Given the description of an element on the screen output the (x, y) to click on. 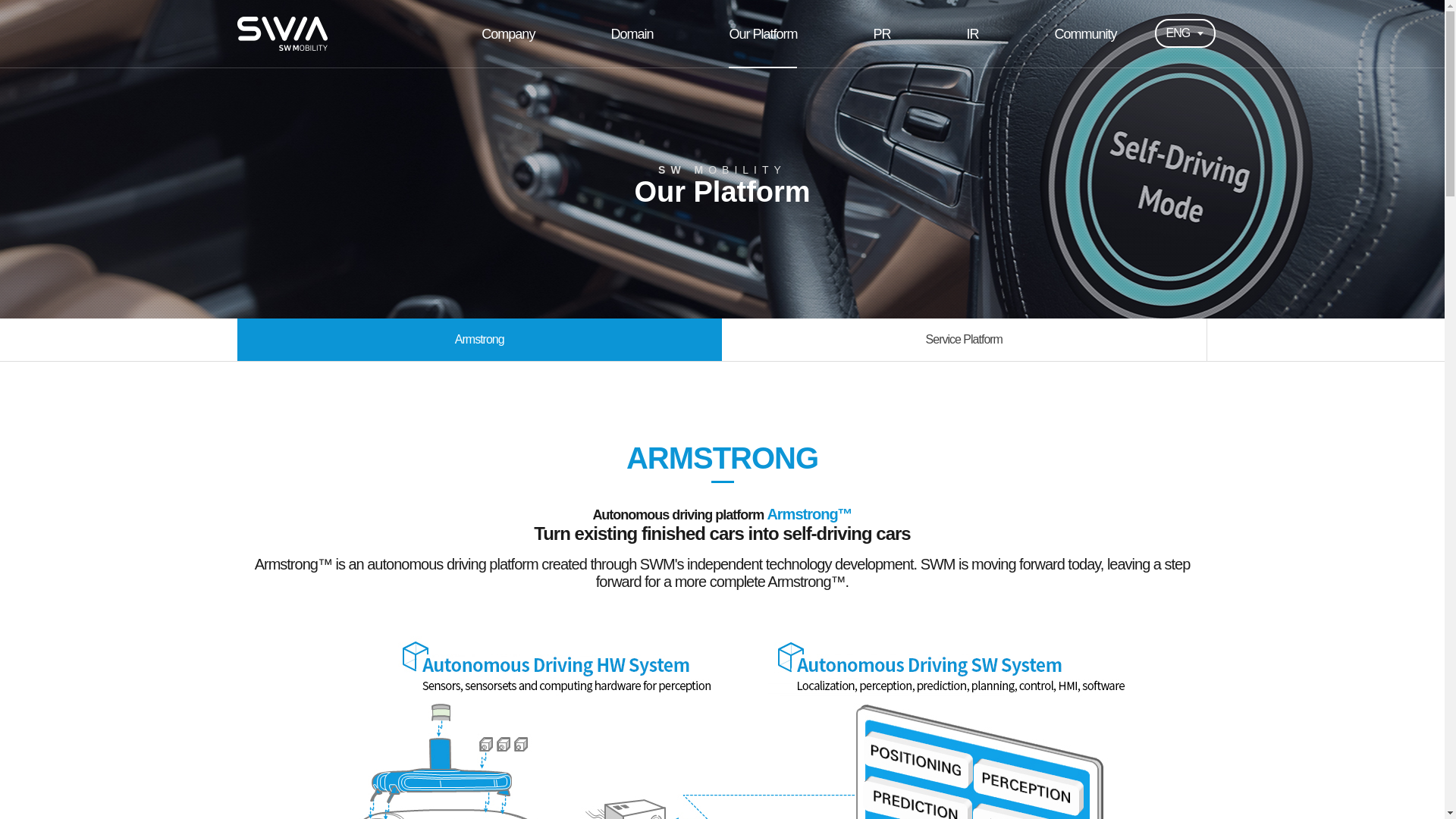
Armstrong (478, 339)
PR (881, 33)
Domain (631, 33)
Company (508, 33)
Community (1085, 33)
Our Platform (762, 33)
SSWM (280, 33)
IR (972, 33)
ENG (1184, 32)
Service Platform (964, 339)
